Given the description of an element on the screen output the (x, y) to click on. 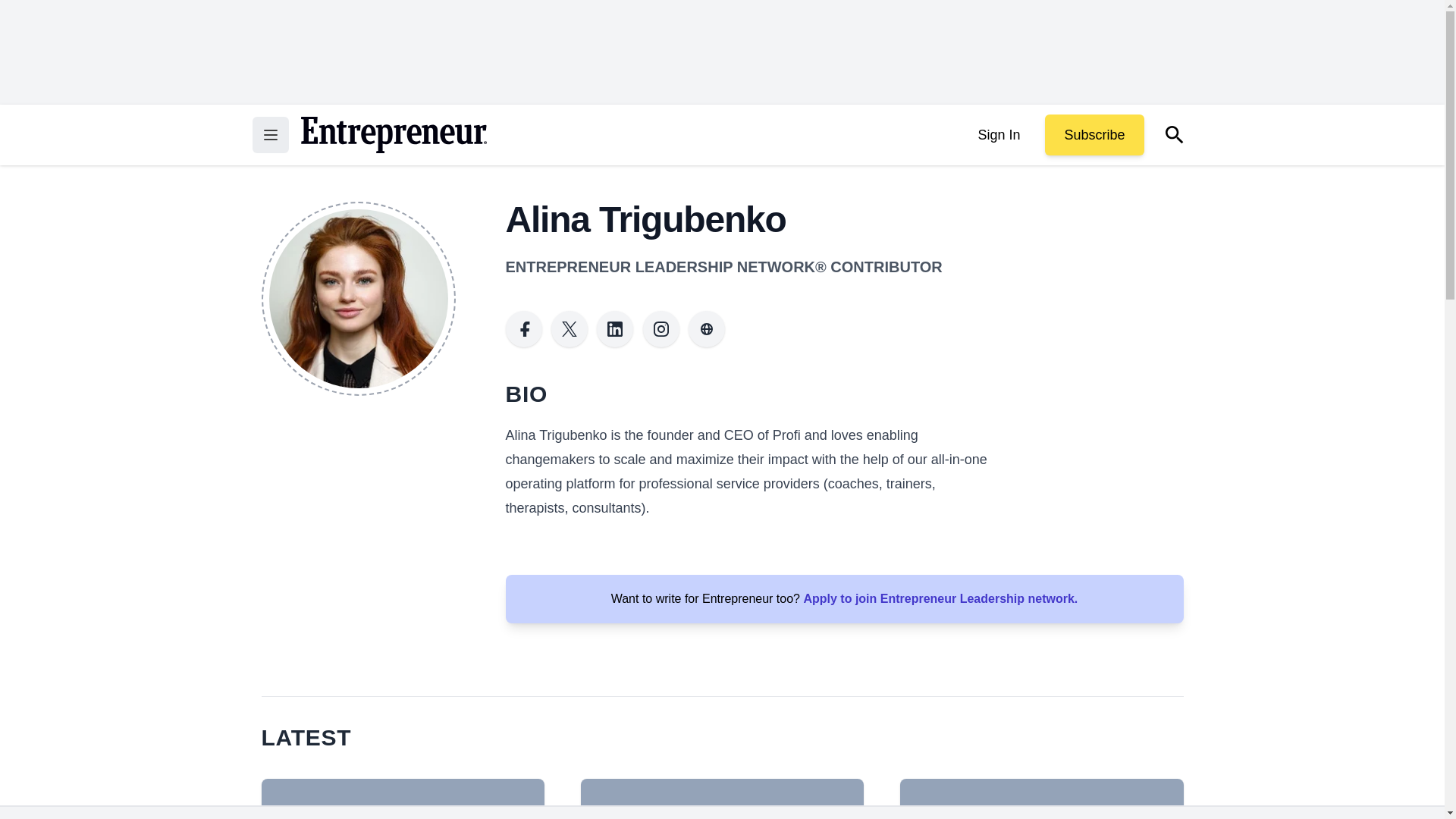
website (706, 329)
twitter (569, 329)
facebook (523, 329)
Subscribe (1093, 134)
Return to the home page (392, 135)
instagram (661, 329)
Sign In (998, 134)
linkedin (614, 329)
